Given the description of an element on the screen output the (x, y) to click on. 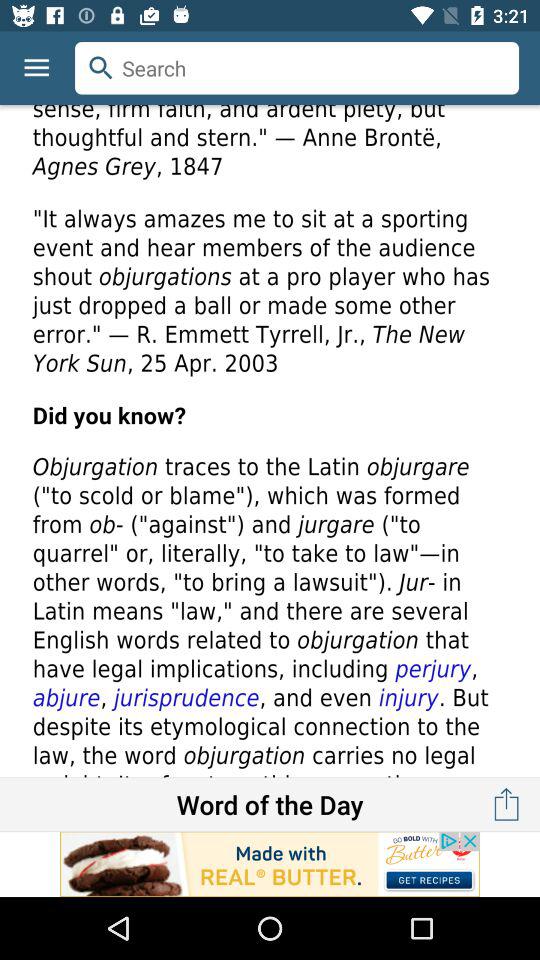
search for (297, 68)
